Given the description of an element on the screen output the (x, y) to click on. 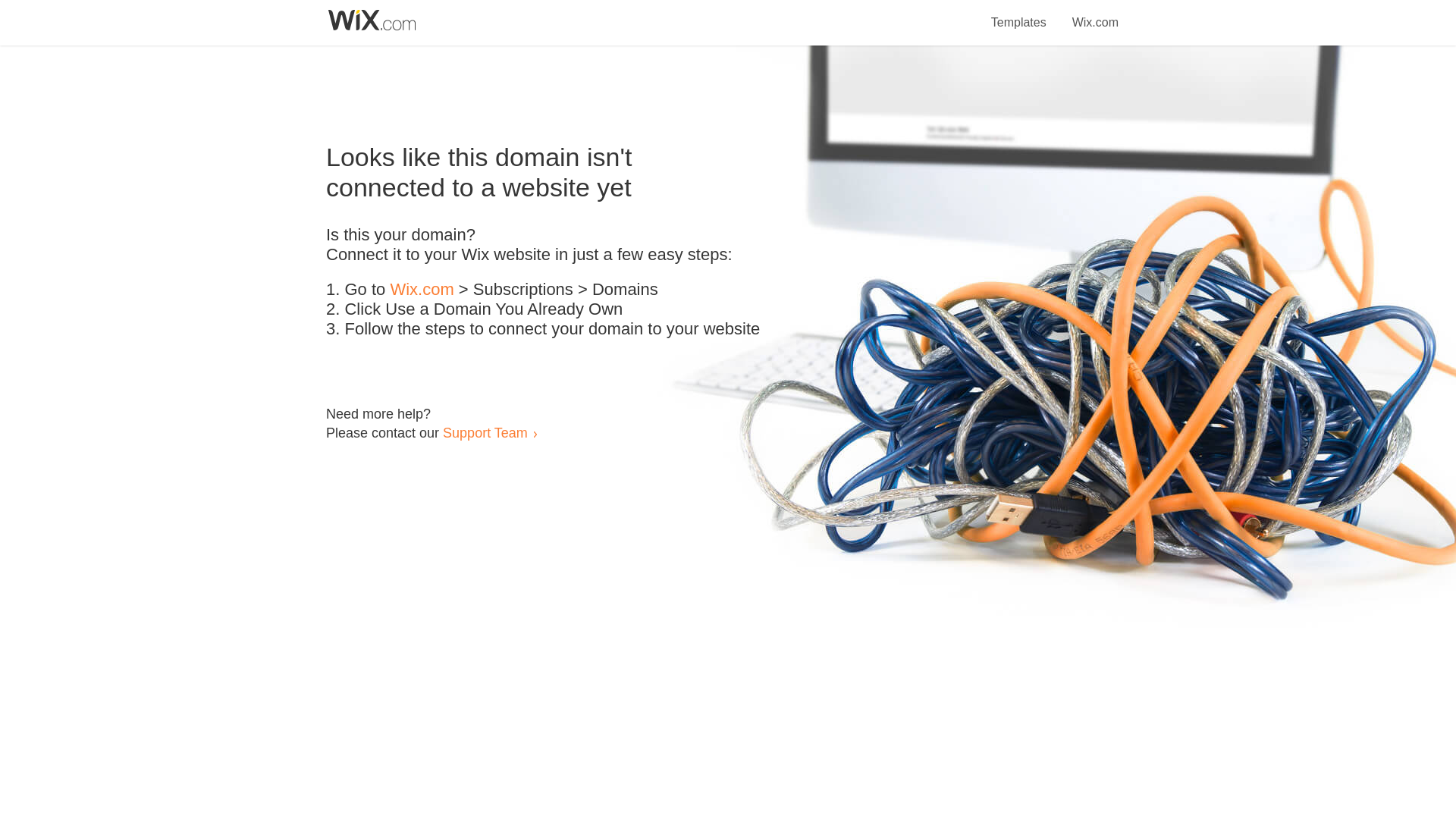
Templates (1018, 14)
Wix.com (1095, 14)
Wix.com (421, 289)
Support Team (484, 432)
